Given the description of an element on the screen output the (x, y) to click on. 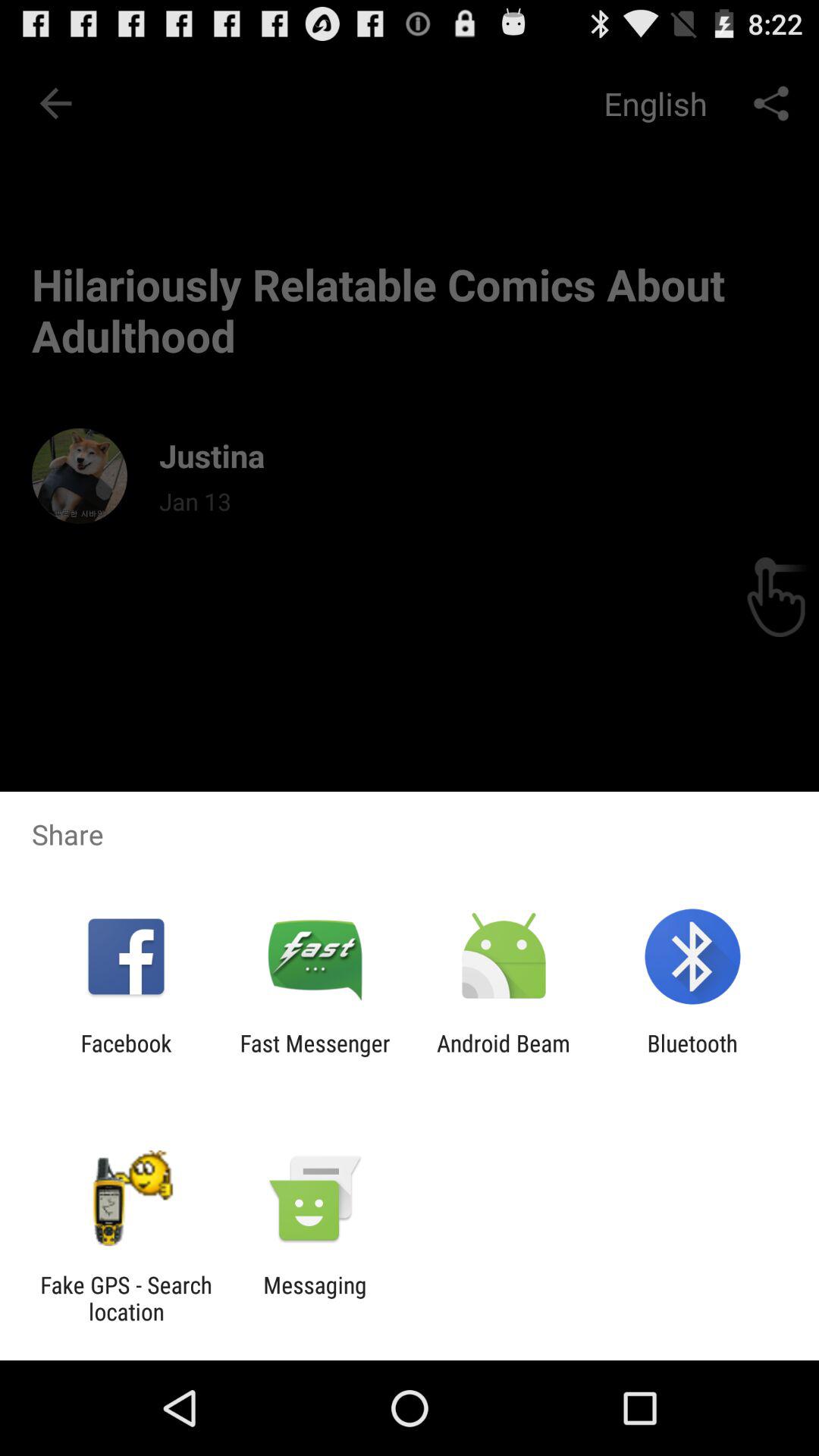
choose the facebook icon (125, 1056)
